Given the description of an element on the screen output the (x, y) to click on. 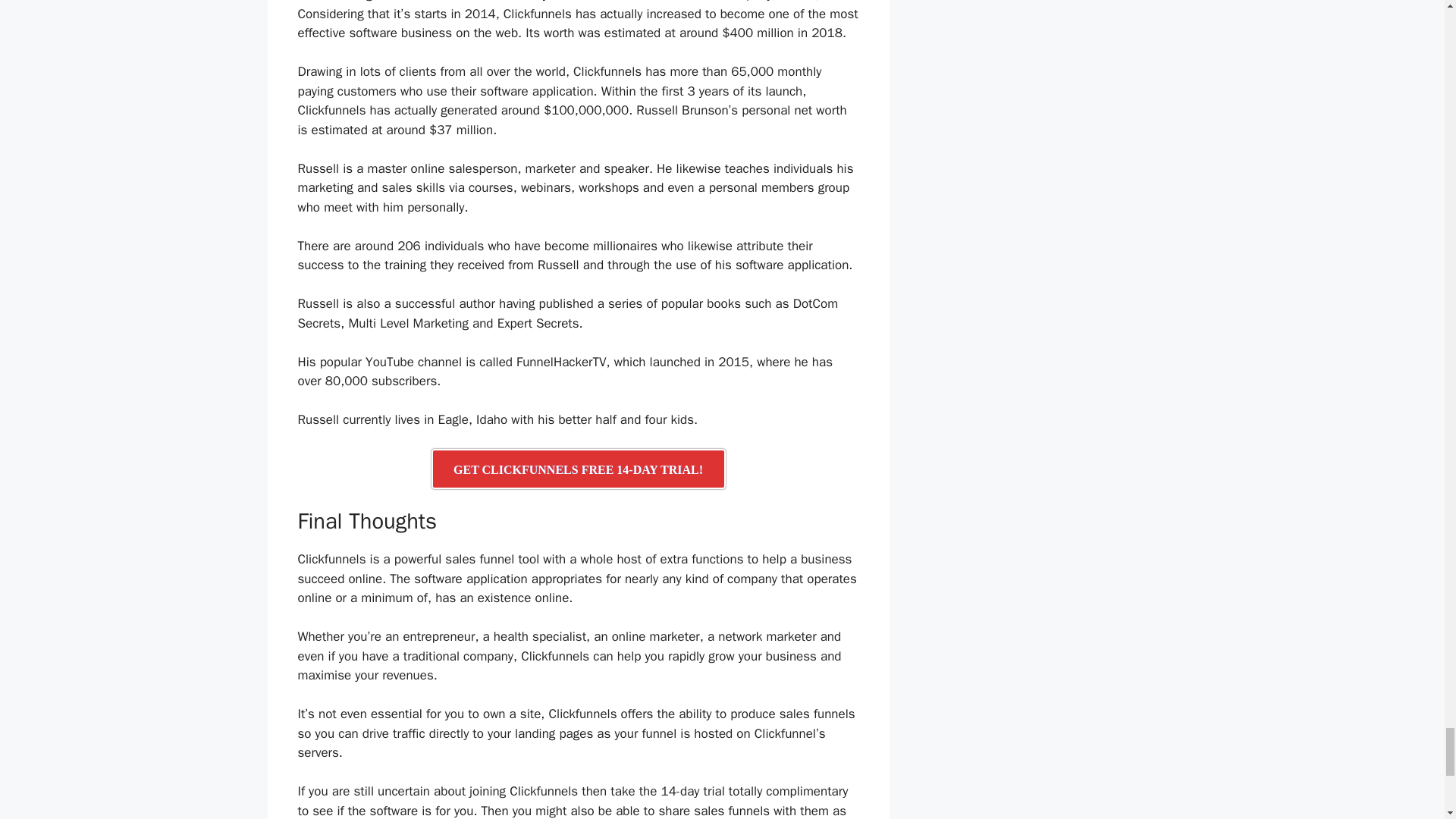
GET CLICKFUNNELS FREE 14-DAY TRIAL! (577, 468)
